Given the description of an element on the screen output the (x, y) to click on. 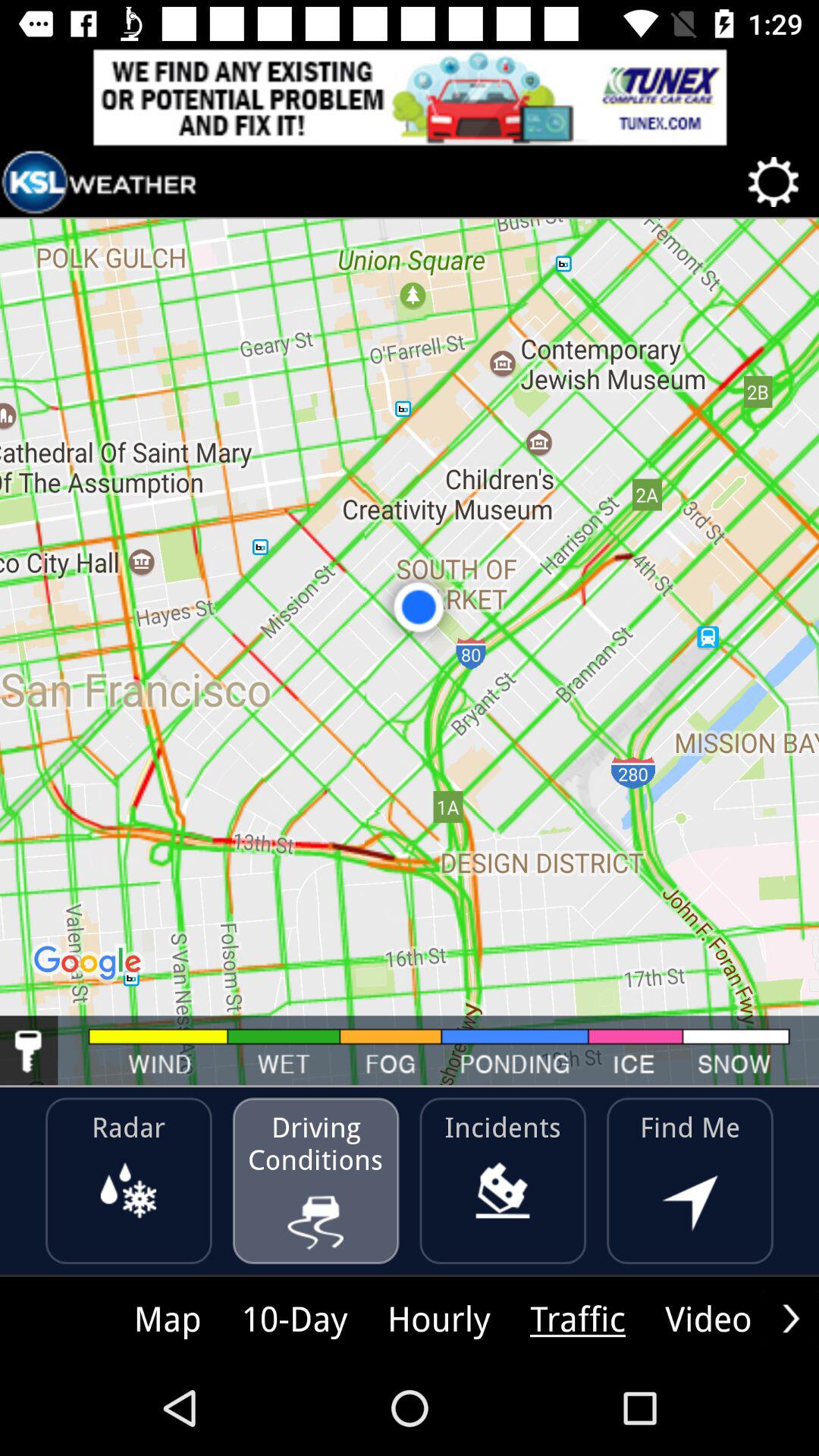
click to see the advert (409, 97)
